Given the description of an element on the screen output the (x, y) to click on. 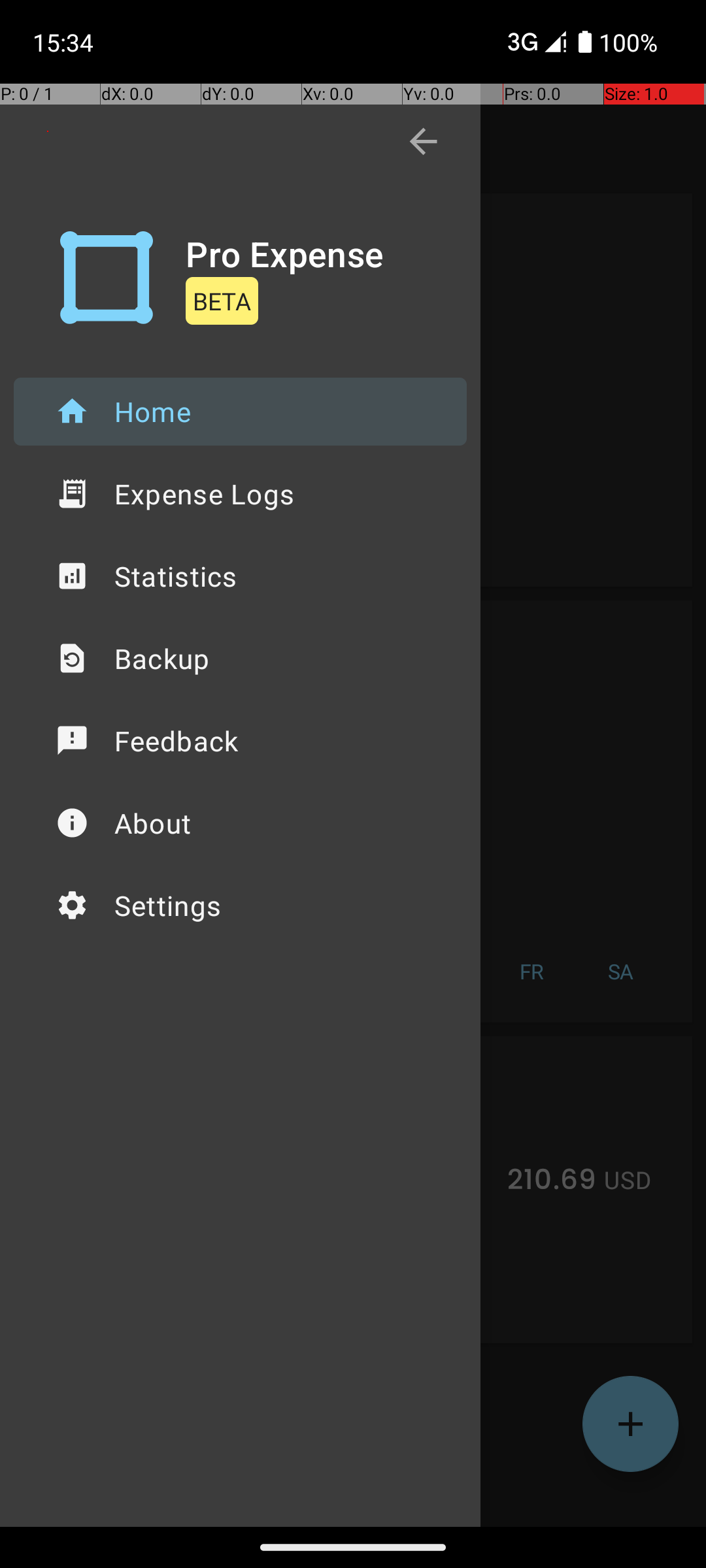
Pro Expense Element type: android.widget.TextView (284, 253)
BETA Element type: android.widget.TextView (221, 300)
Expense Logs Element type: android.widget.CheckedTextView (239, 493)
Statistics Element type: android.widget.CheckedTextView (239, 576)
Backup Element type: android.widget.CheckedTextView (239, 658)
Feedback Element type: android.widget.CheckedTextView (239, 740)
About Element type: android.widget.CheckedTextView (239, 823)
